Given the description of an element on the screen output the (x, y) to click on. 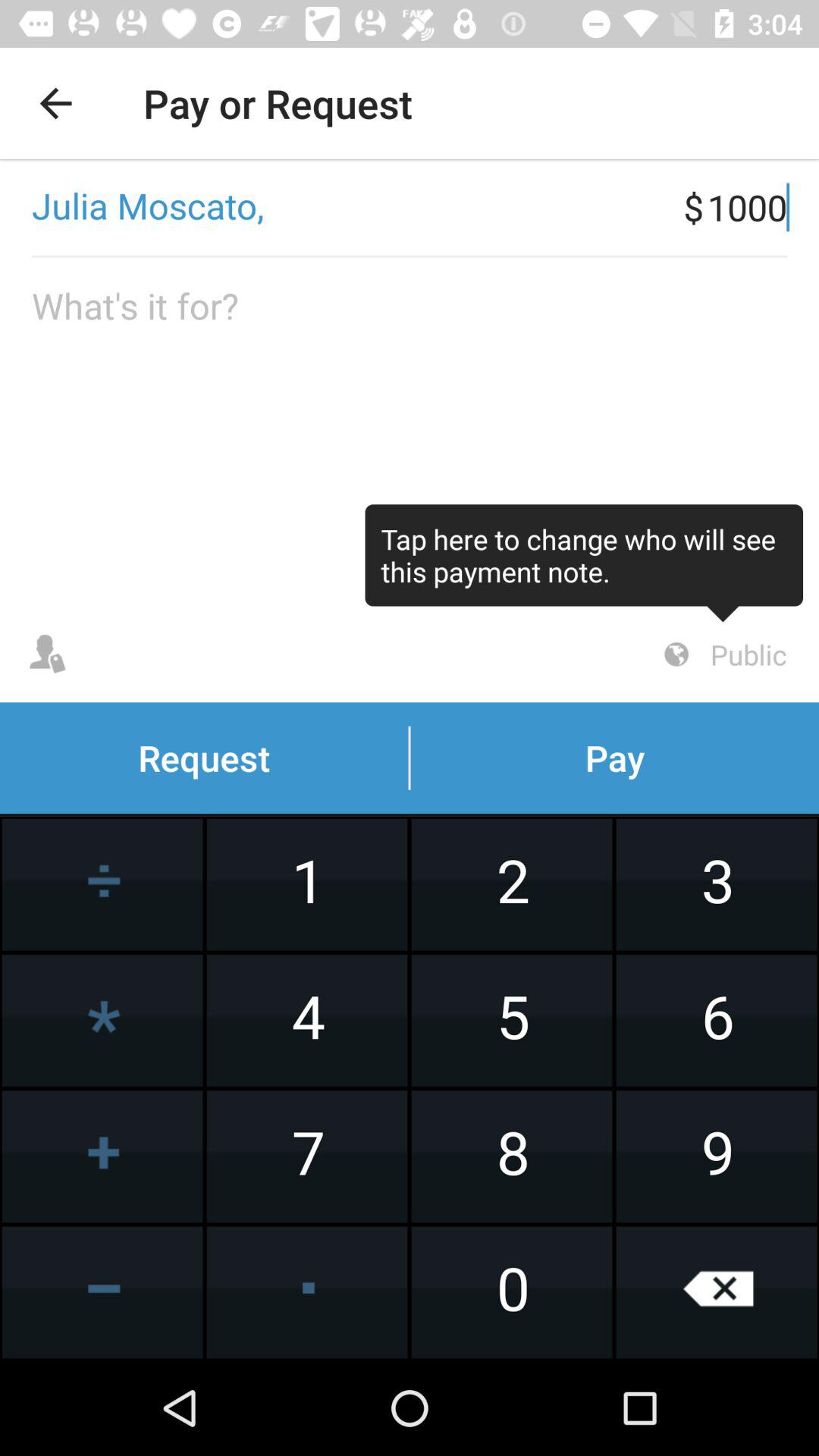
tap 1000 item (763, 207)
